Given the description of an element on the screen output the (x, y) to click on. 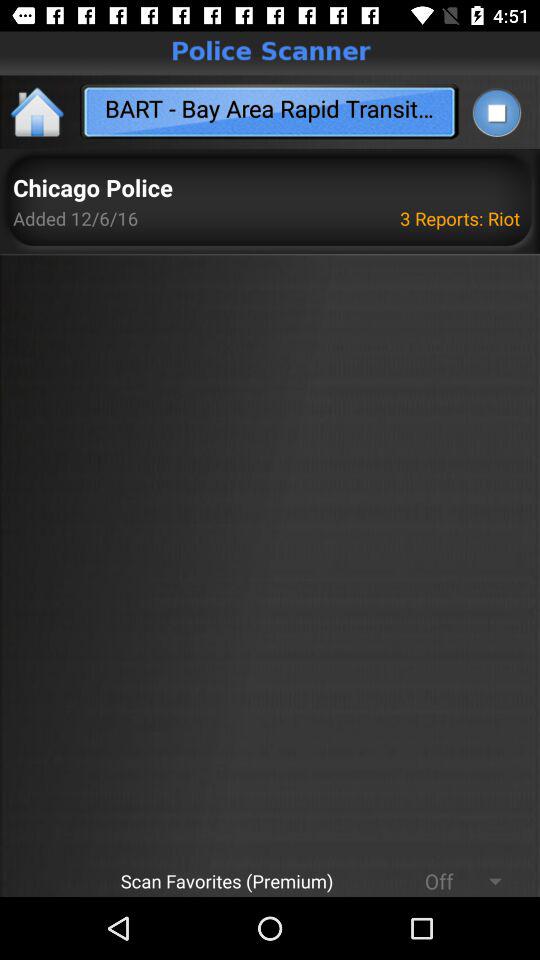
scroll until 3 reports: riot icon (463, 218)
